Given the description of an element on the screen output the (x, y) to click on. 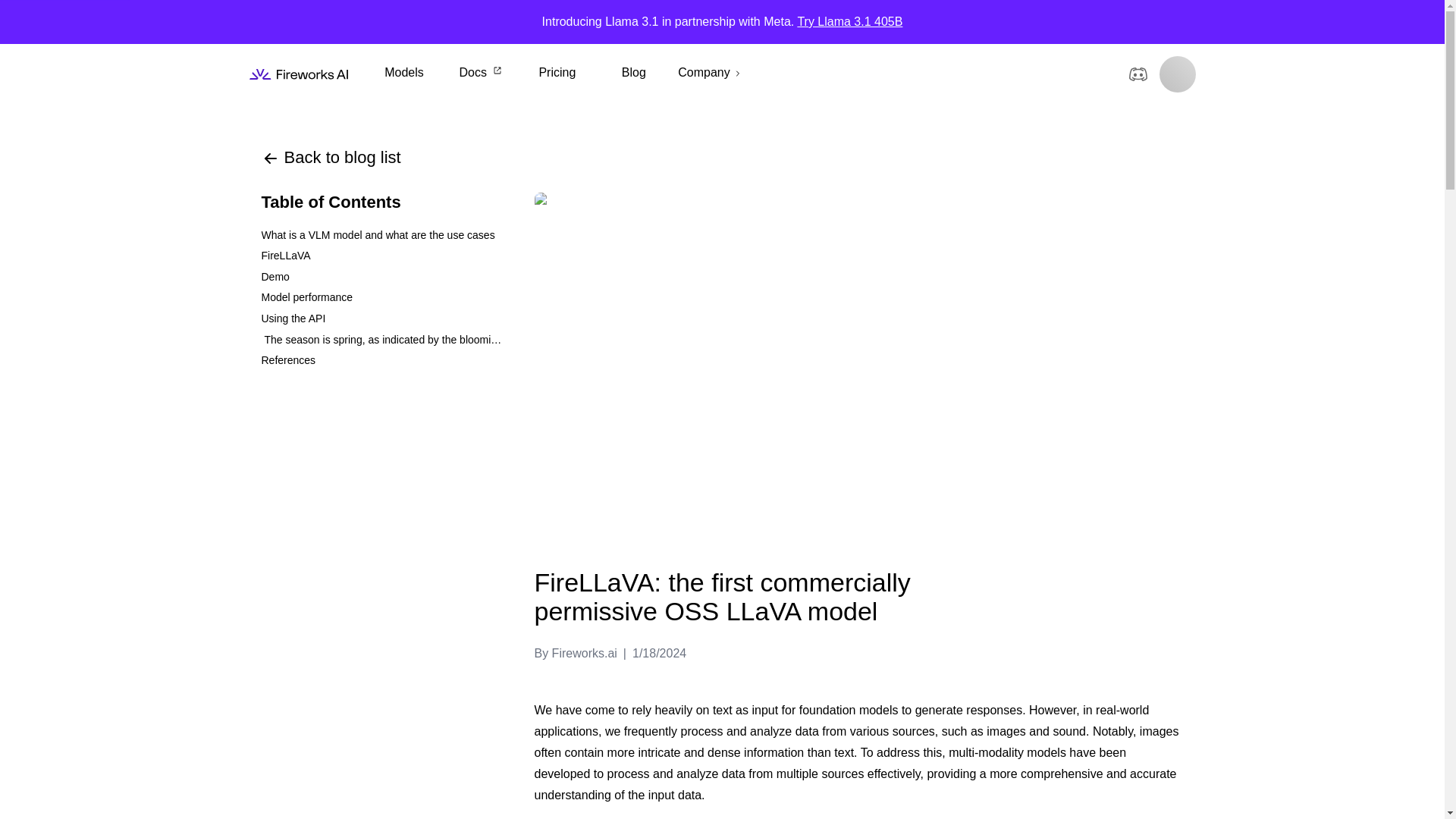
Demo (381, 277)
Blog (633, 72)
Docs (480, 72)
References (381, 360)
What is a VLM model and what are the use cases (381, 235)
Pricing (556, 72)
Back to blog list (330, 157)
Join our Discord for questions and support (1137, 74)
Models (403, 72)
FireLLaVA (381, 255)
Try Llama 3.1 405B (849, 21)
Using the API (381, 319)
Model performance (381, 297)
